Given the description of an element on the screen output the (x, y) to click on. 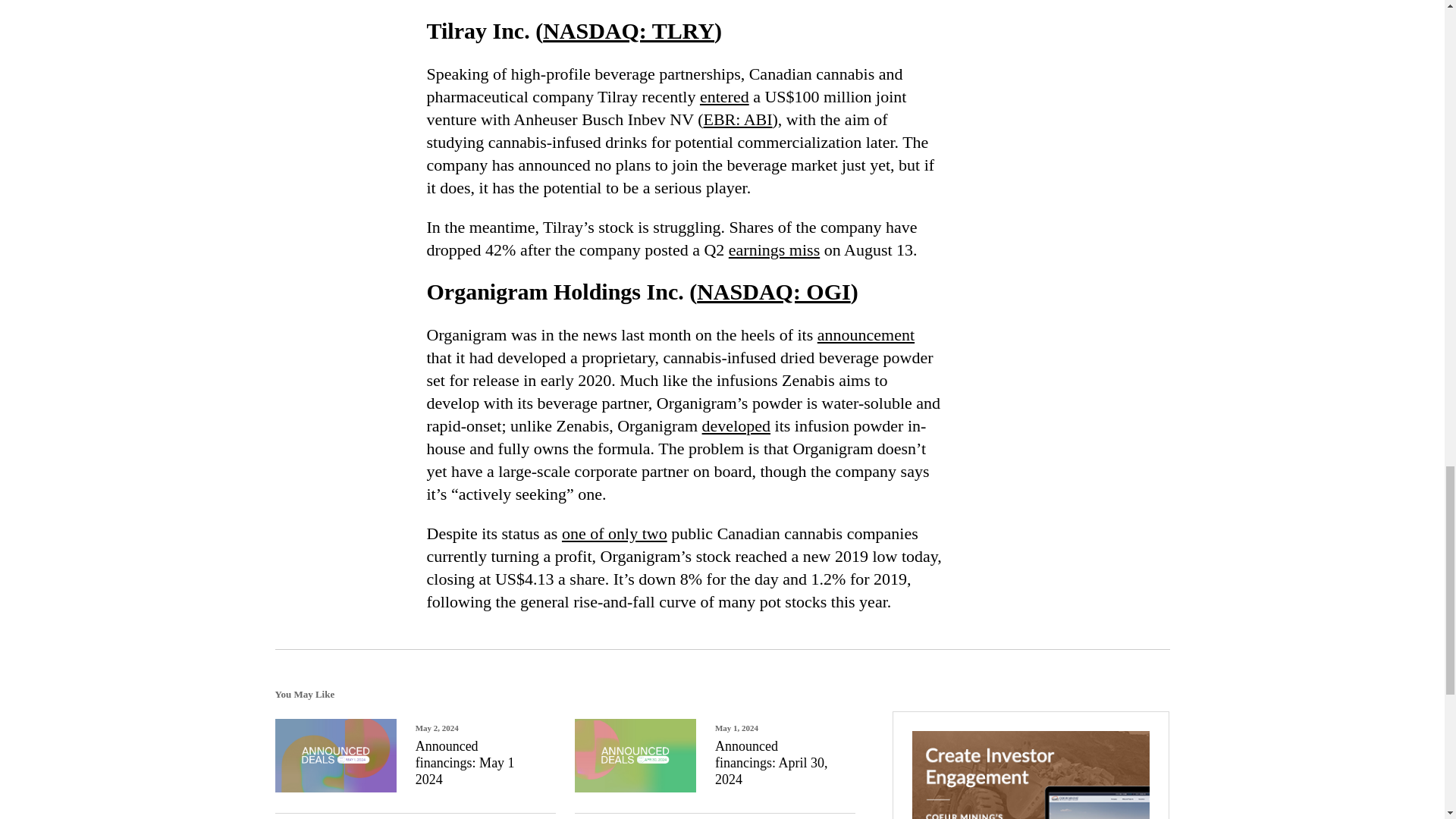
NASDAQ: OGI (773, 291)
developed (735, 425)
EBR: ABI (737, 118)
announcement (865, 334)
earnings miss (774, 249)
one of only two (614, 533)
NASDAQ: TLRY (628, 30)
entered (724, 96)
